Given the description of an element on the screen output the (x, y) to click on. 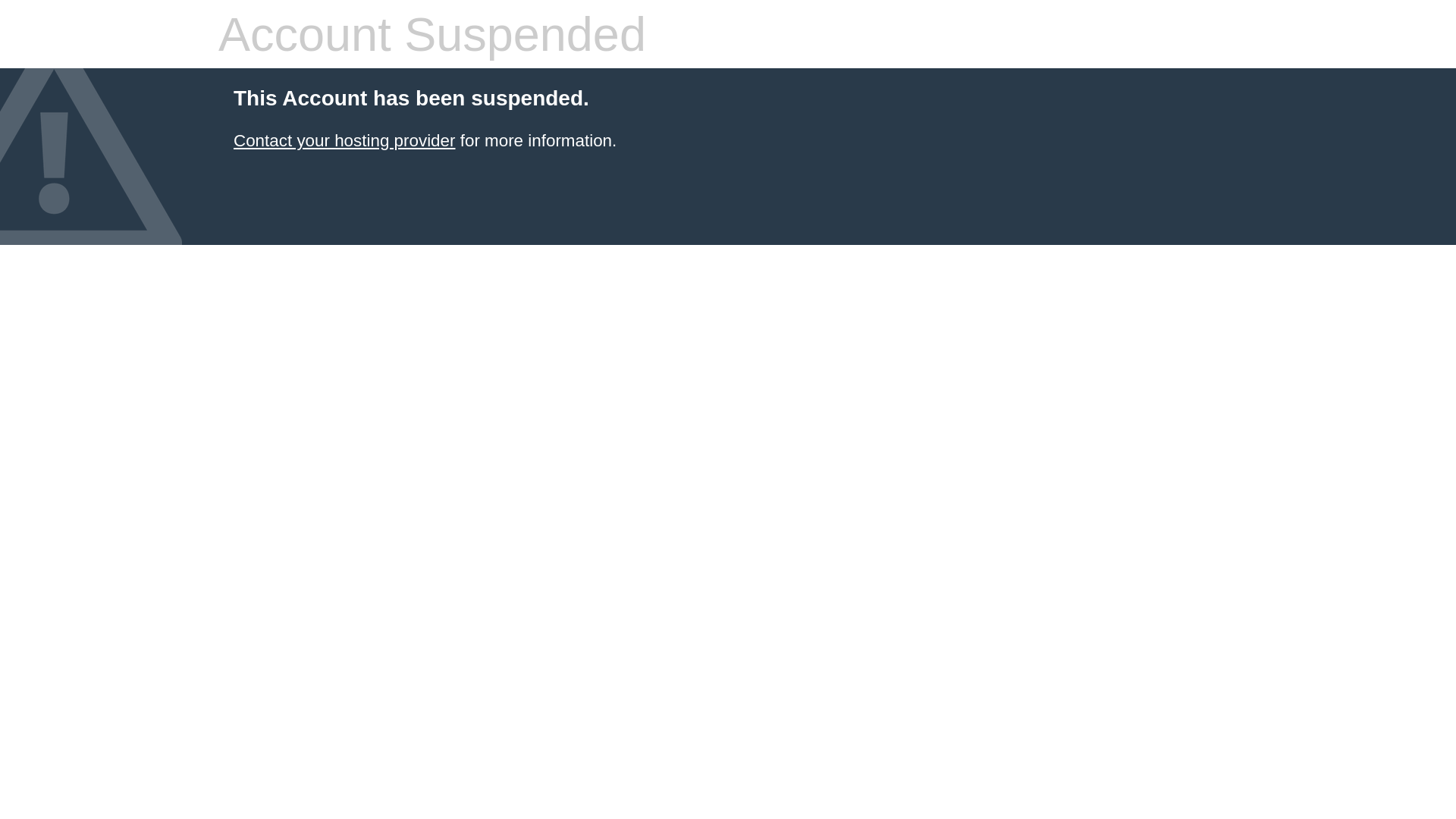
Contact your hosting provider Element type: text (344, 140)
